Given the description of an element on the screen output the (x, y) to click on. 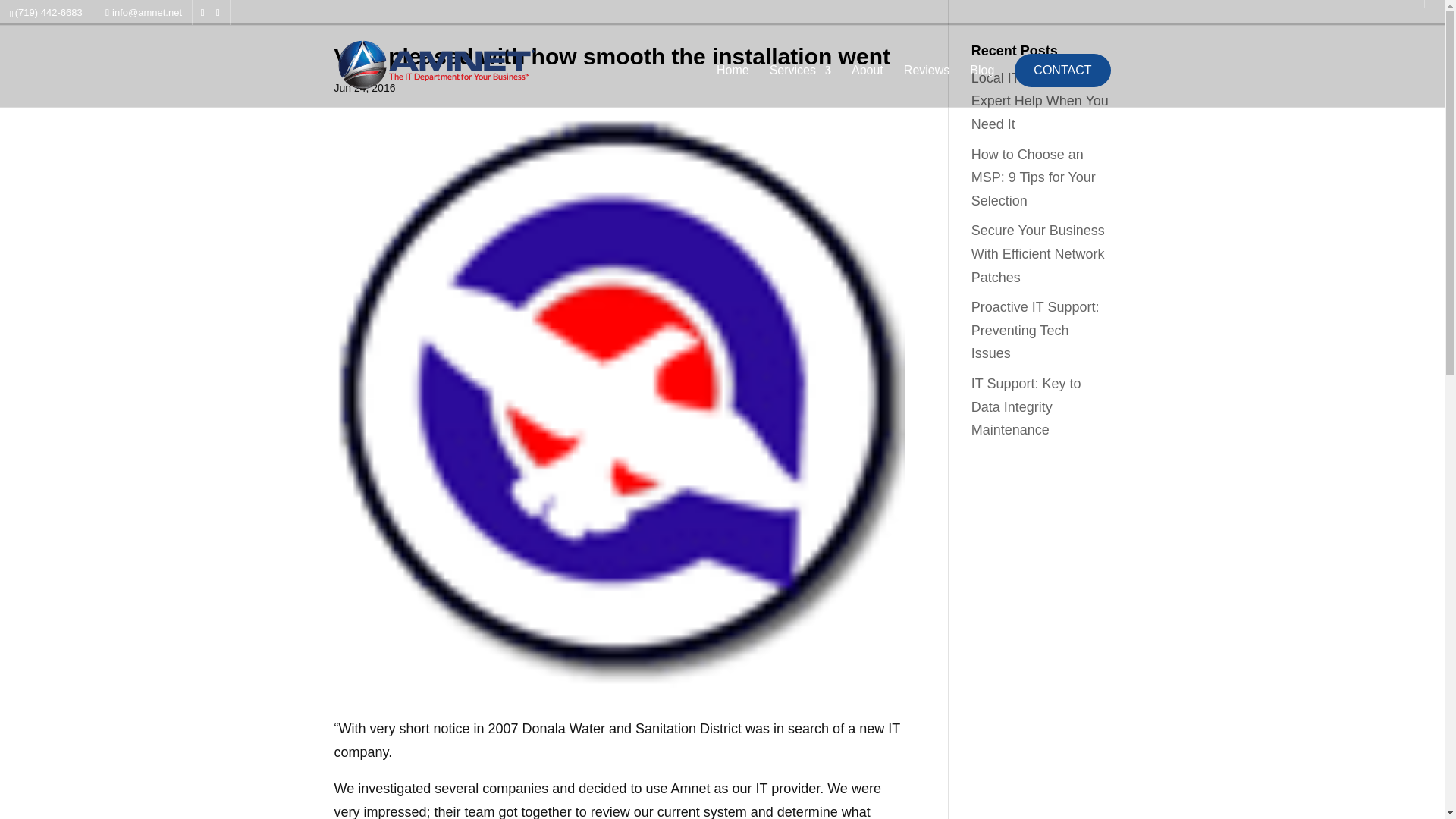
Blog (981, 86)
About (867, 86)
Colorado IT Tips (981, 86)
Services (800, 86)
About Amnet in Colorado Springs (867, 86)
Home (732, 86)
Local IT Support: Expert Help When You Need It (1039, 100)
Reviews (926, 86)
IT Support: Key to Data Integrity Maintenance (1026, 406)
Amnet It Services (732, 86)
Secure Your Business With Efficient Network Patches (1038, 253)
CONTACT (1061, 70)
Reviews about Amnet (926, 86)
Proactive IT Support: Preventing Tech Issues (1035, 330)
How to Choose an MSP: 9 Tips for Your Selection (1033, 177)
